Given the description of an element on the screen output the (x, y) to click on. 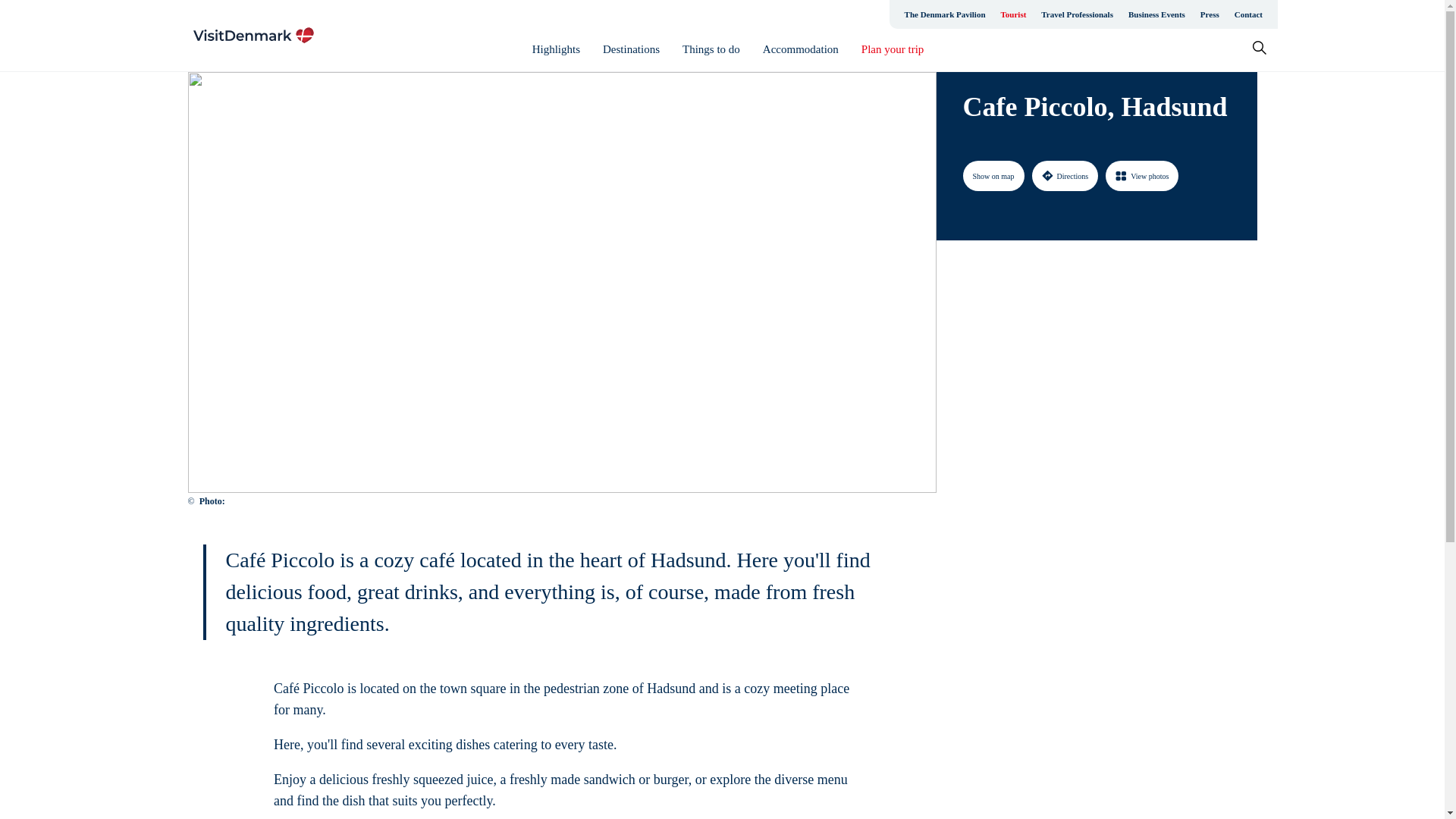
Things to do (710, 49)
The Denmark Pavilion (944, 14)
Destinations (630, 49)
View photos (1141, 175)
Directions (1063, 175)
Plan your trip (892, 49)
Highlights (555, 49)
Accommodation (800, 49)
Travel Professionals (1077, 14)
Business Events (1156, 14)
Press (1209, 14)
Tourist (1012, 14)
Go to homepage (253, 35)
Contact (1248, 14)
Show on map (993, 175)
